Given the description of an element on the screen output the (x, y) to click on. 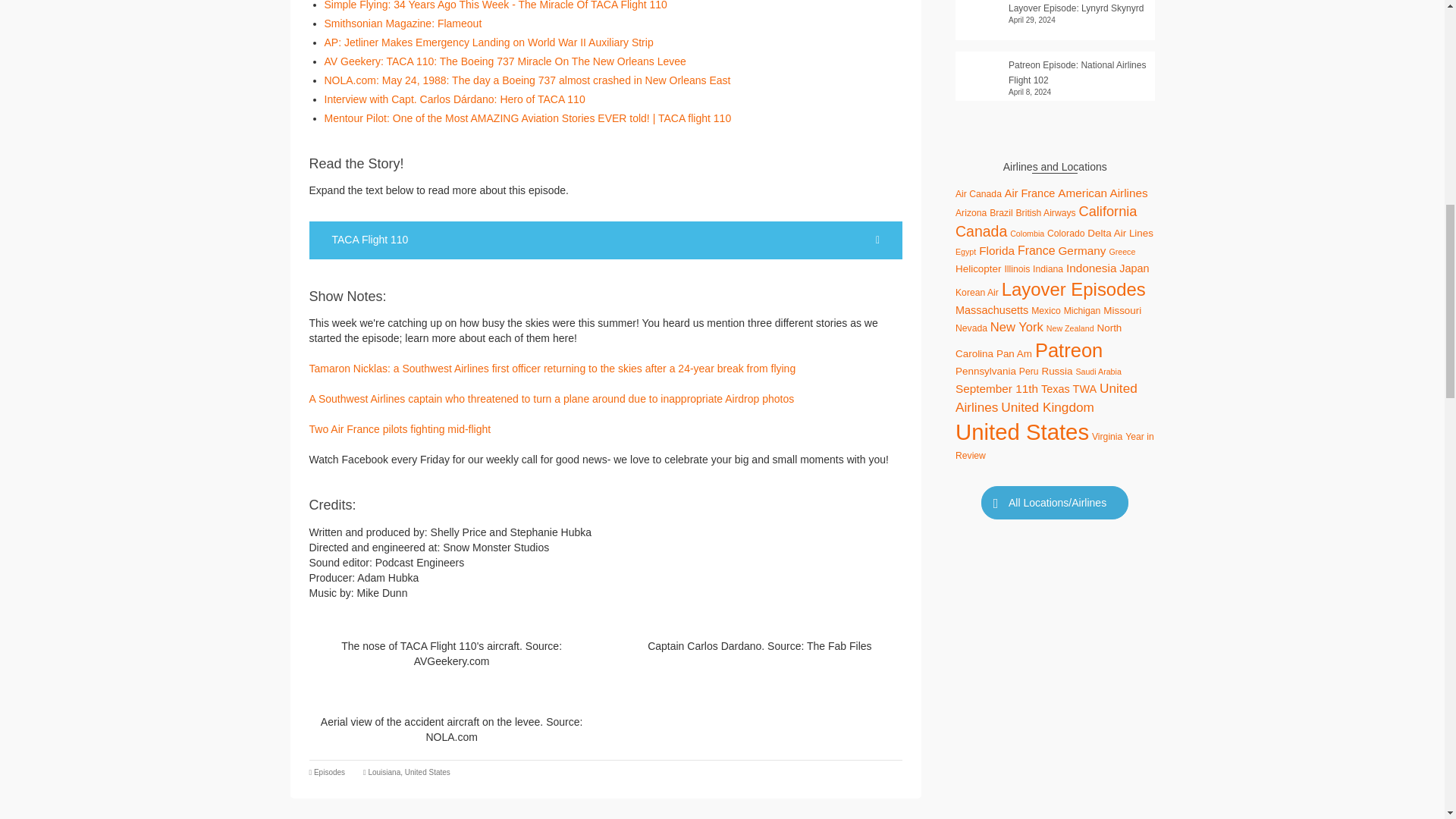
Smithsonian Magazine: Flameout (402, 23)
